Given the description of an element on the screen output the (x, y) to click on. 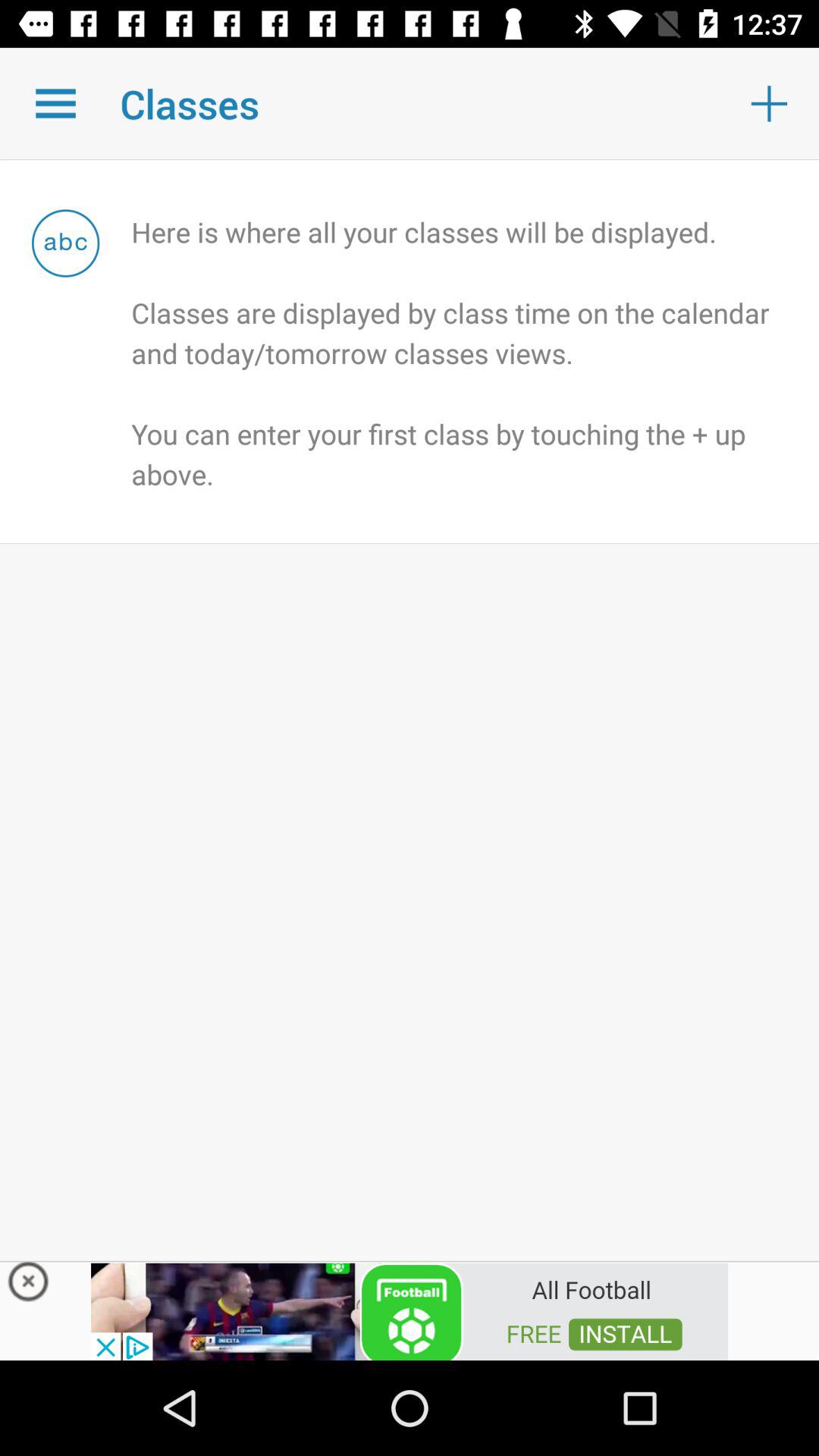
close (28, 1285)
